Given the description of an element on the screen output the (x, y) to click on. 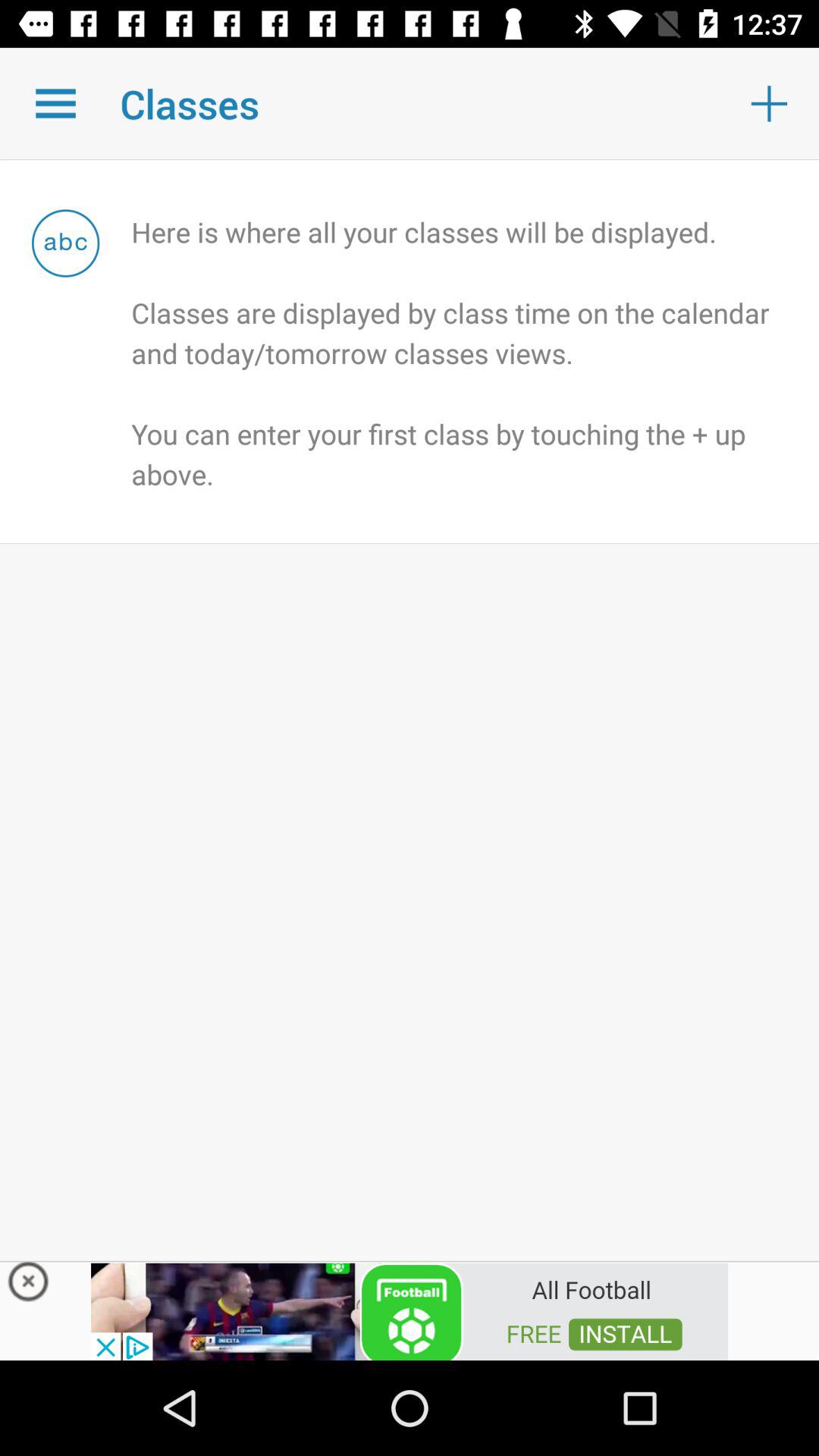
close (28, 1285)
